Given the description of an element on the screen output the (x, y) to click on. 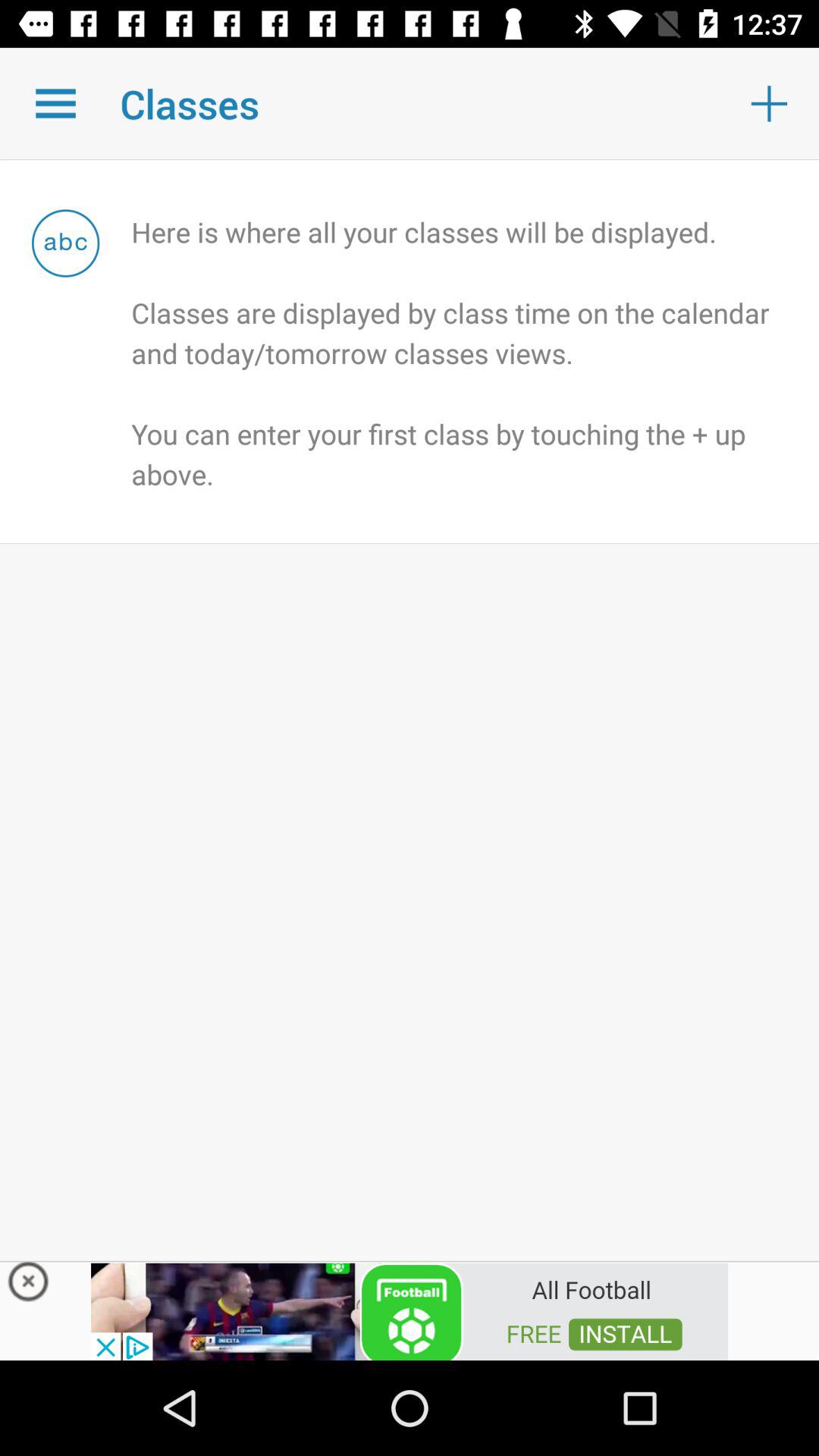
close (28, 1285)
